Given the description of an element on the screen output the (x, y) to click on. 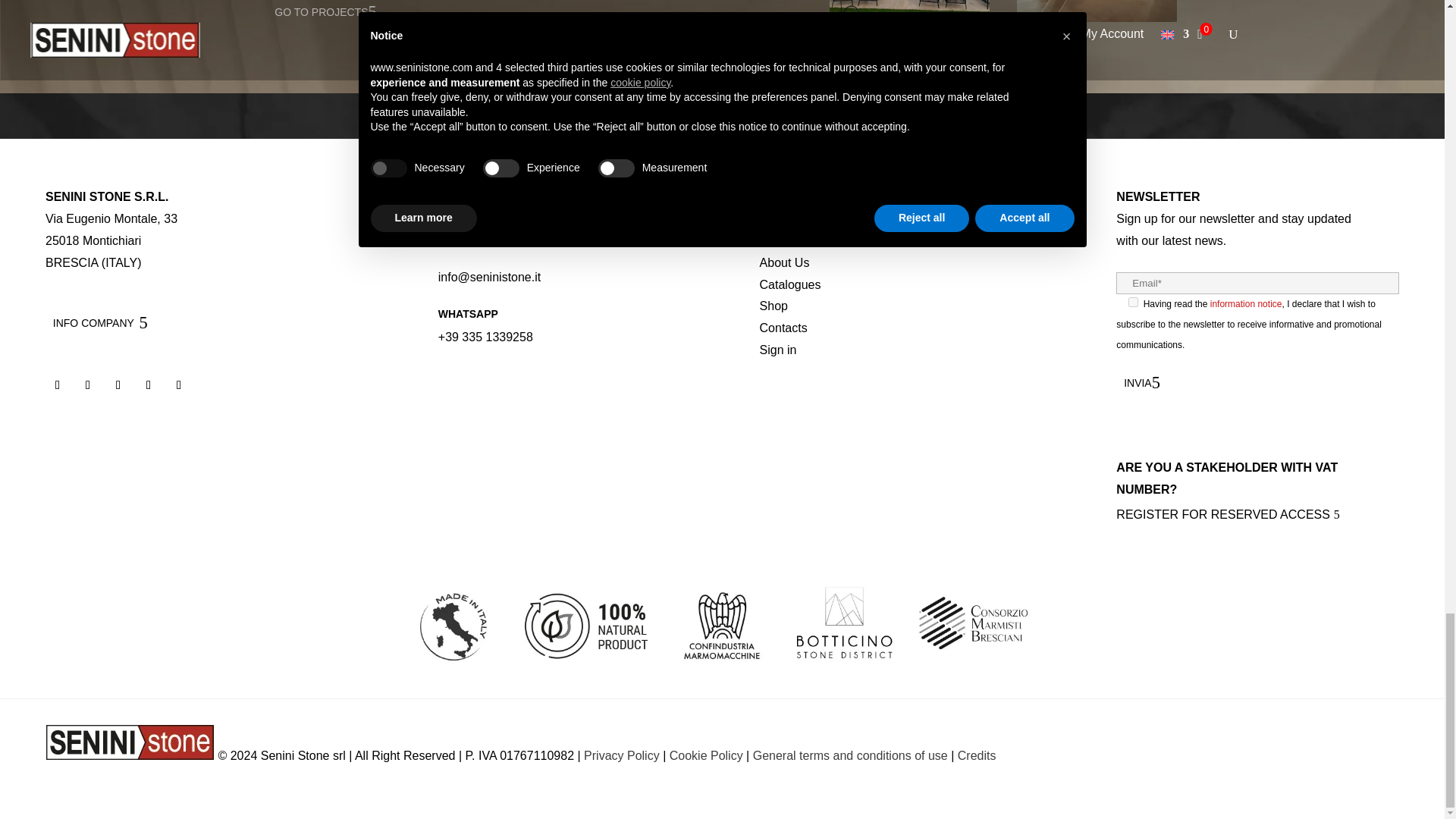
1 (1133, 302)
